Given the description of an element on the screen output the (x, y) to click on. 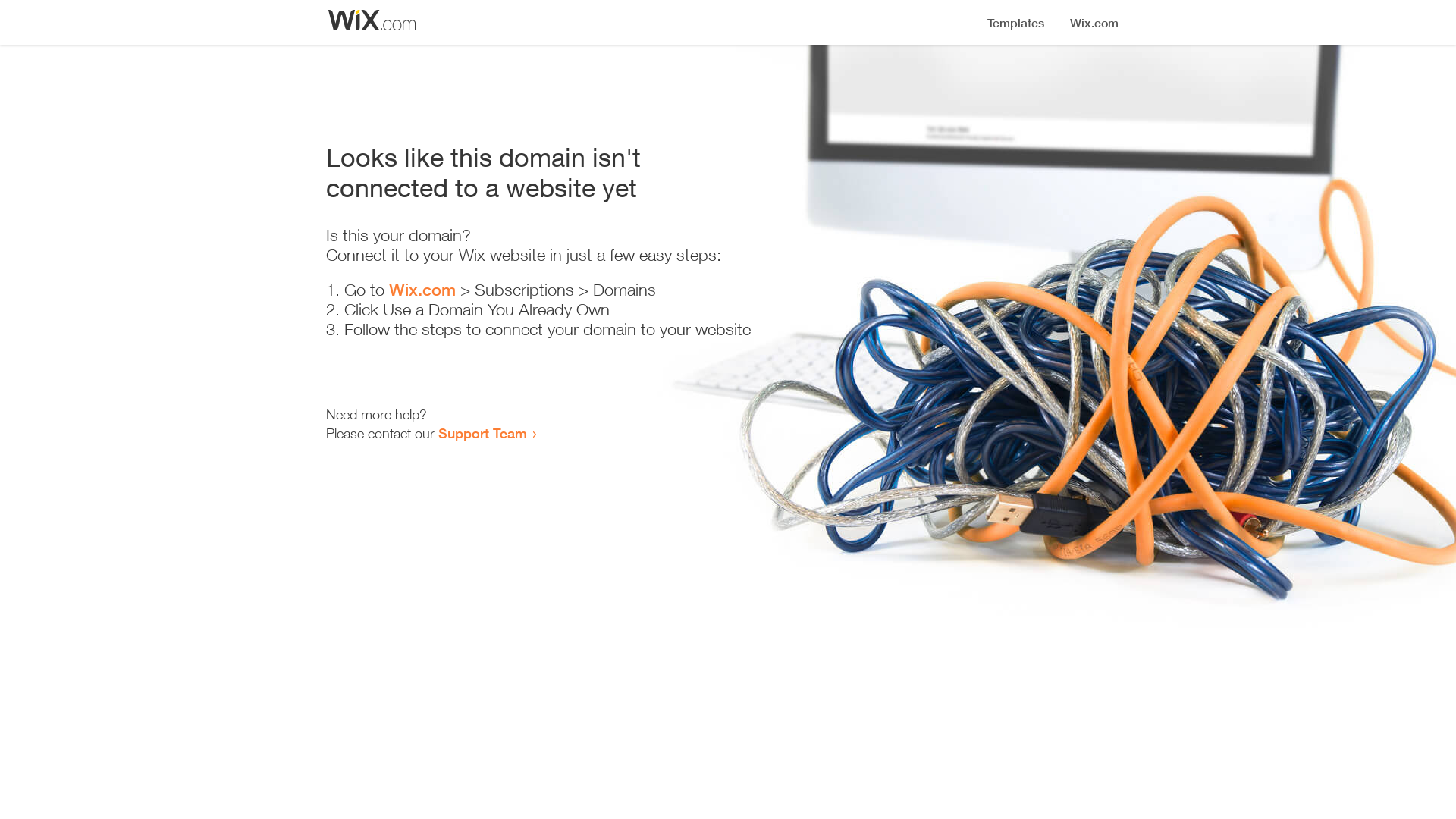
Support Team Element type: text (482, 432)
Wix.com Element type: text (422, 289)
